Given the description of an element on the screen output the (x, y) to click on. 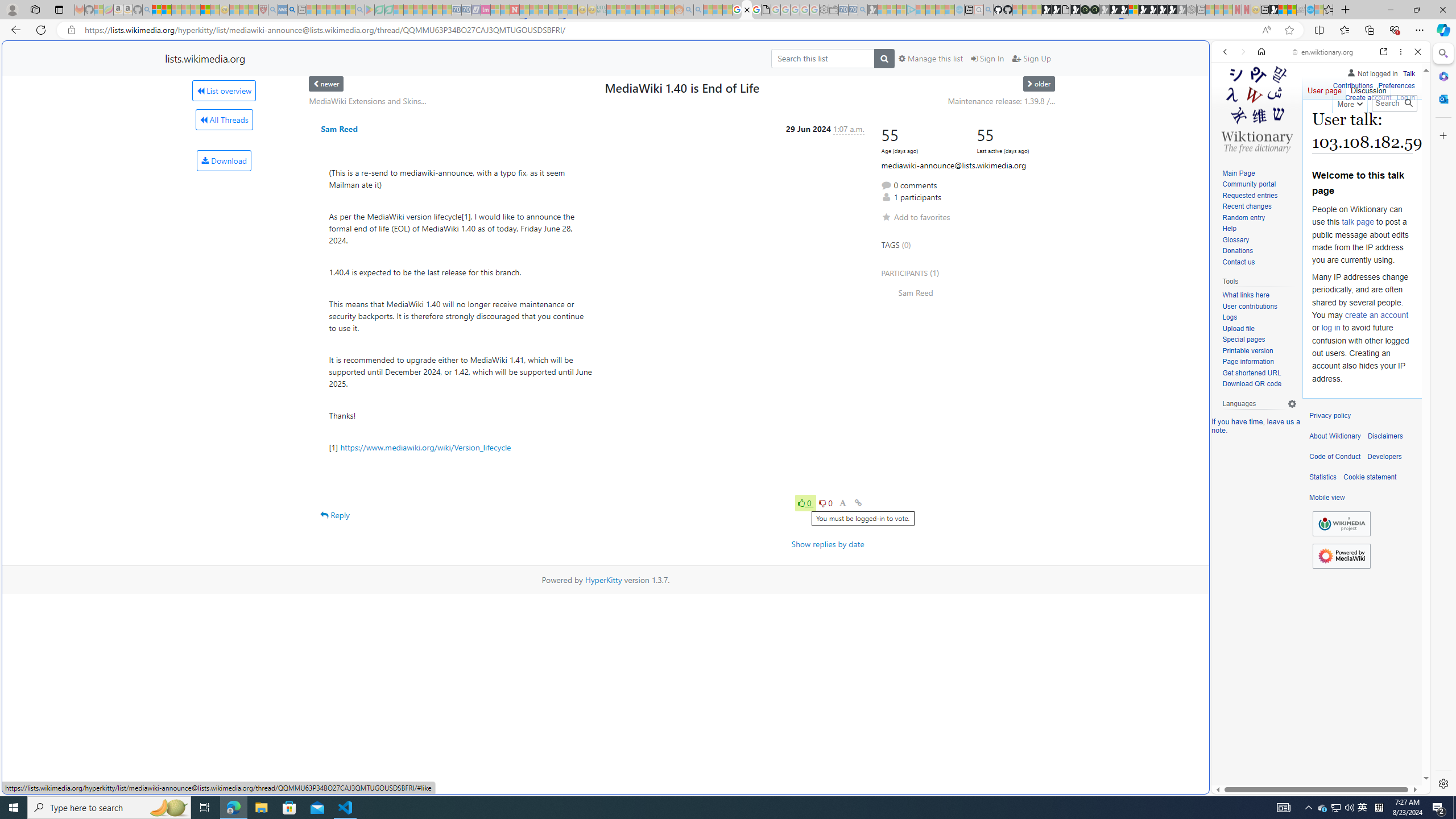
Earth has six continents not seven, radical new study claims (1291, 9)
Upload file (1259, 328)
create an account (1376, 314)
Sam Reed (967, 292)
utah sues federal government - Search (922, 389)
Search or enter web address (922, 108)
Donations (1259, 251)
Donations (1237, 250)
